Given the description of an element on the screen output the (x, y) to click on. 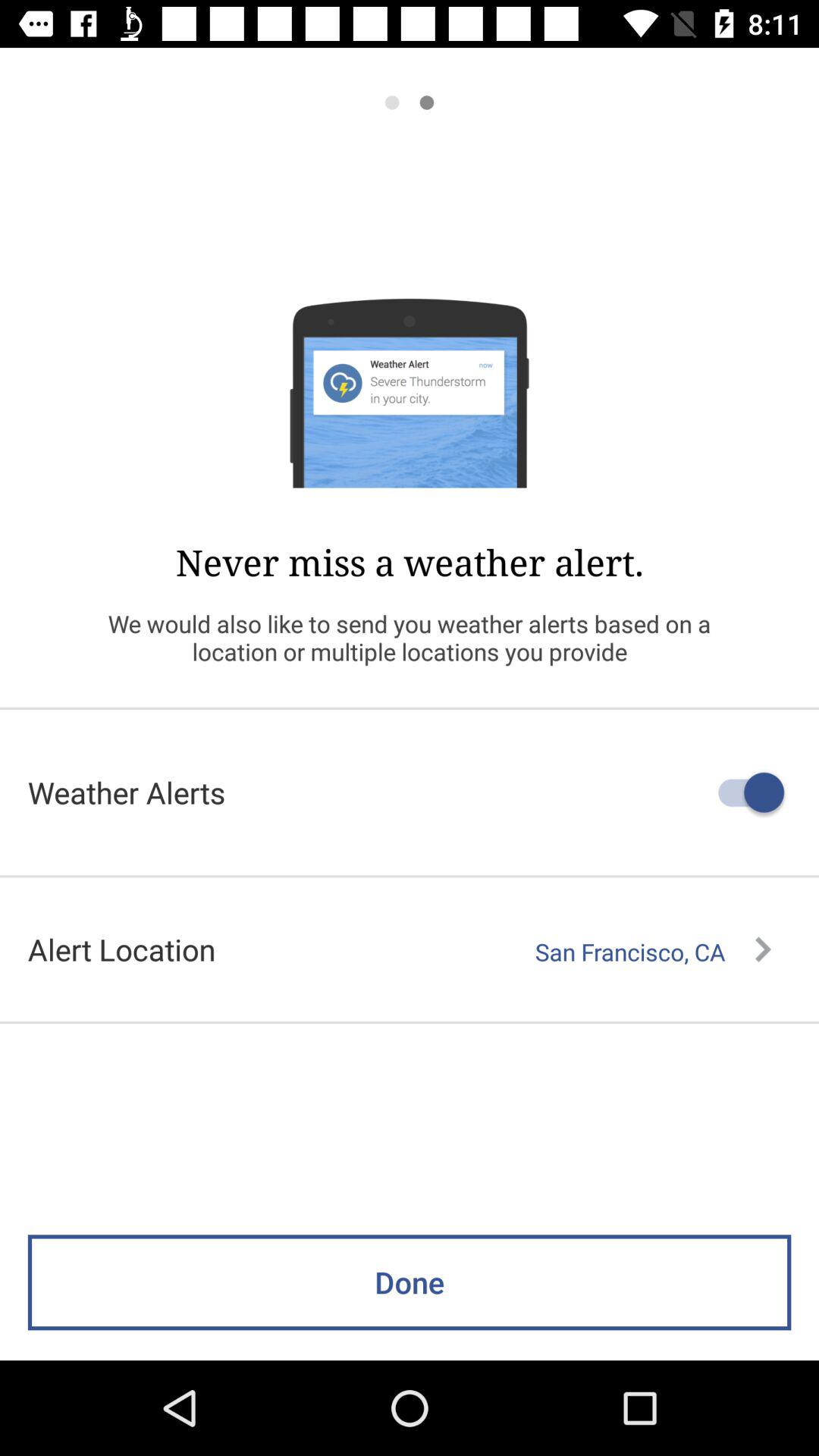
click item next to alert location icon (653, 951)
